Given the description of an element on the screen output the (x, y) to click on. 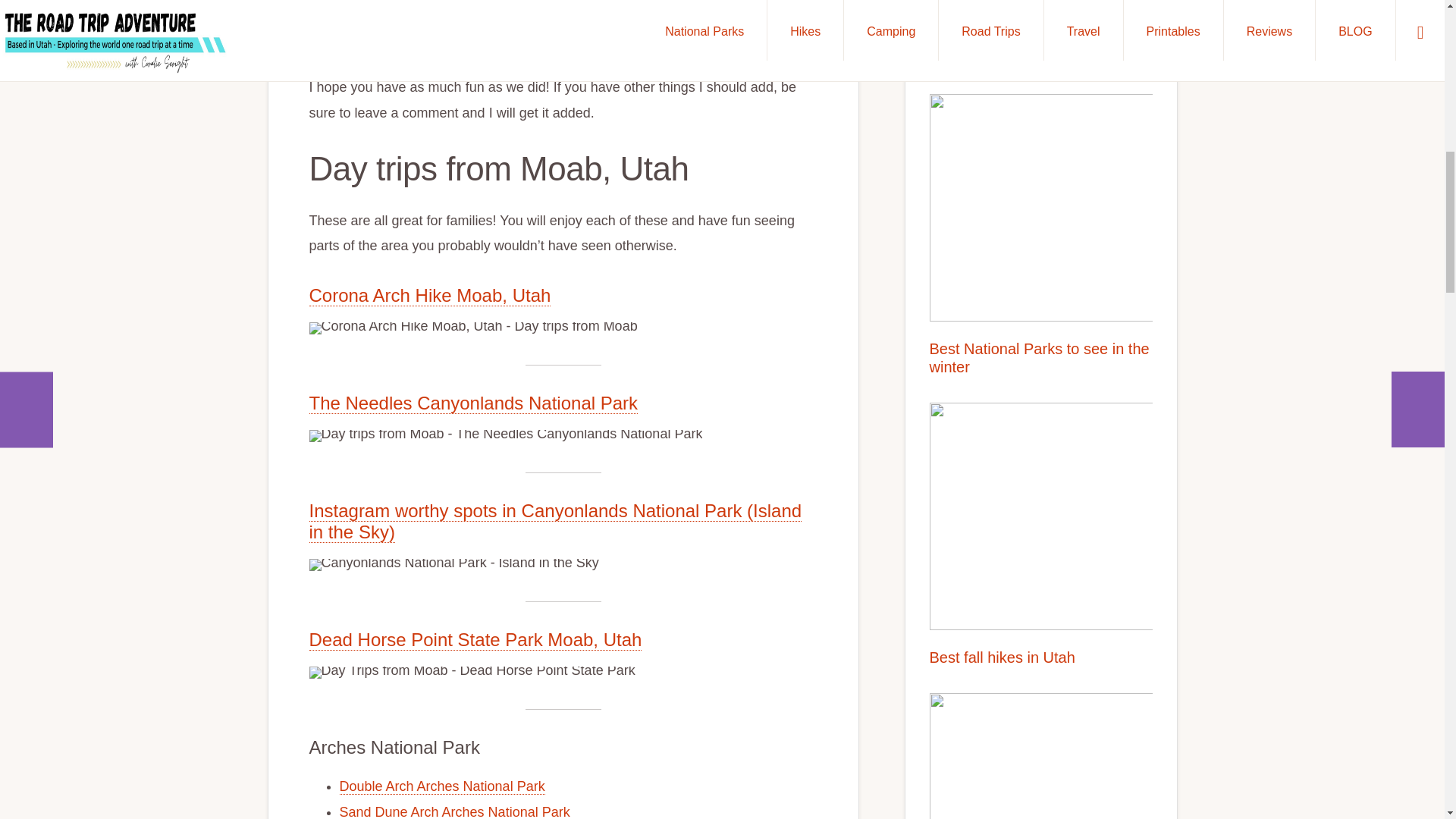
Corona Arch Hike Moab, Utah (429, 295)
Dead Horse Point State Park Moab, Utah (475, 639)
The Needles Canyonlands National Park (473, 403)
